Given the description of an element on the screen output the (x, y) to click on. 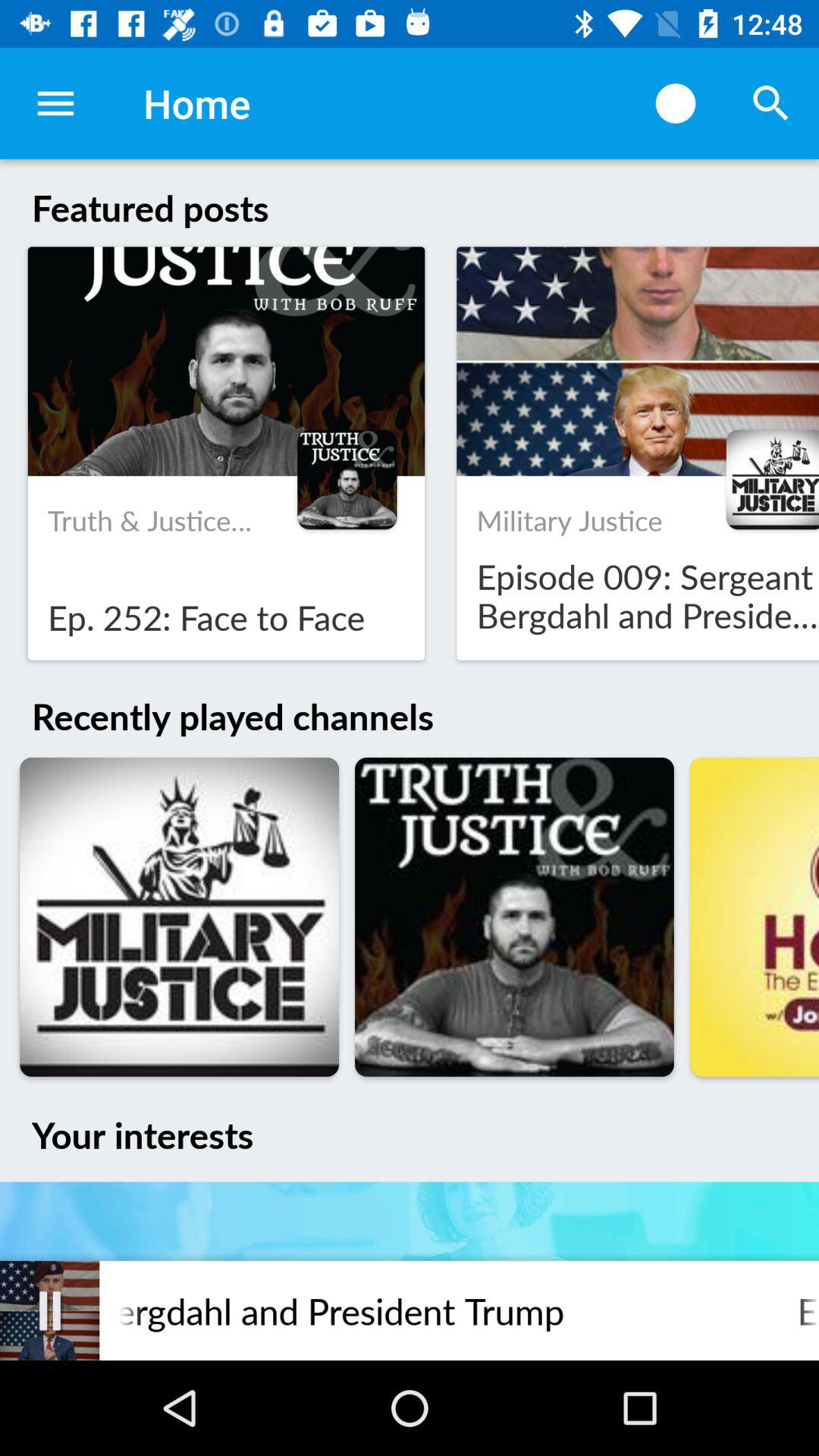
click item above featured posts item (771, 103)
